Given the description of an element on the screen output the (x, y) to click on. 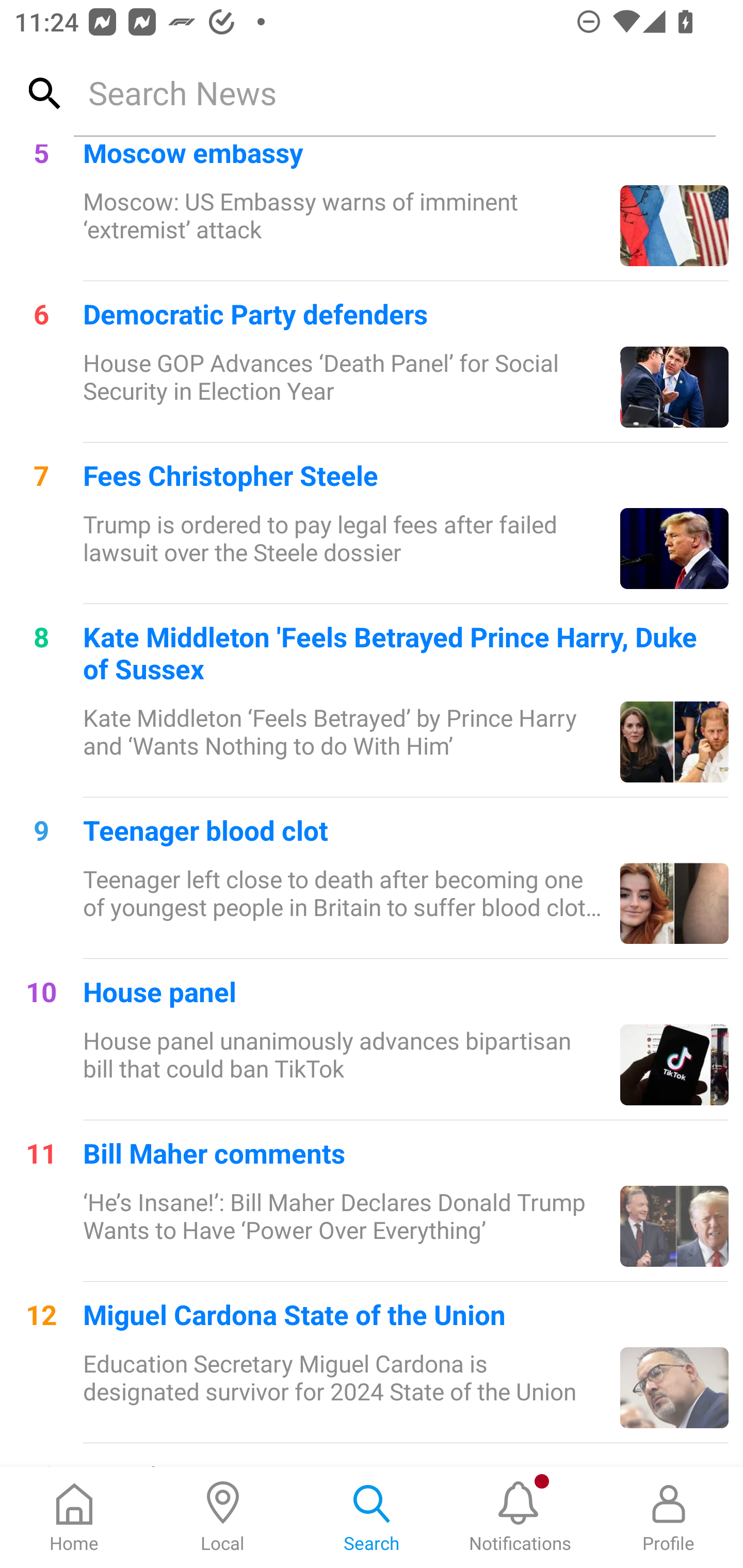
Search News (394, 92)
Home (74, 1517)
Local (222, 1517)
Notifications, New notification Notifications (519, 1517)
Profile (668, 1517)
